Given the description of an element on the screen output the (x, y) to click on. 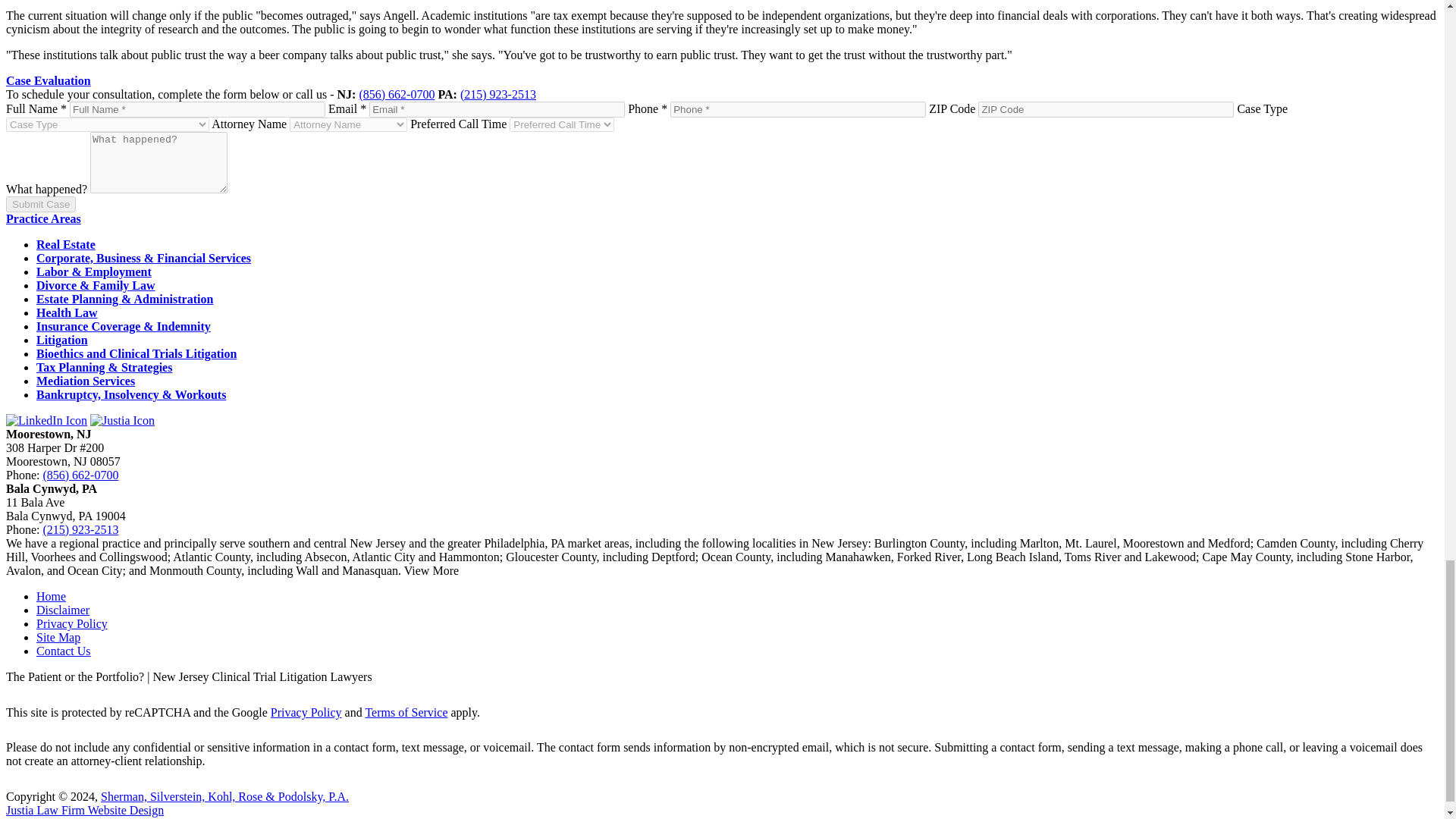
Disclaimer (62, 609)
Attorney Name (348, 124)
Case Type (107, 124)
Home (50, 595)
Justia (122, 420)
Health Law (66, 312)
Real Estate (66, 244)
Bioethics and Clinical Trials Litigation (135, 353)
Litigation (61, 339)
Mediation Services (85, 380)
Submit Case (40, 204)
LinkedIn (46, 420)
Preferred Call Time (561, 124)
Case Evaluation (47, 80)
Practice Areas (43, 218)
